Given the description of an element on the screen output the (x, y) to click on. 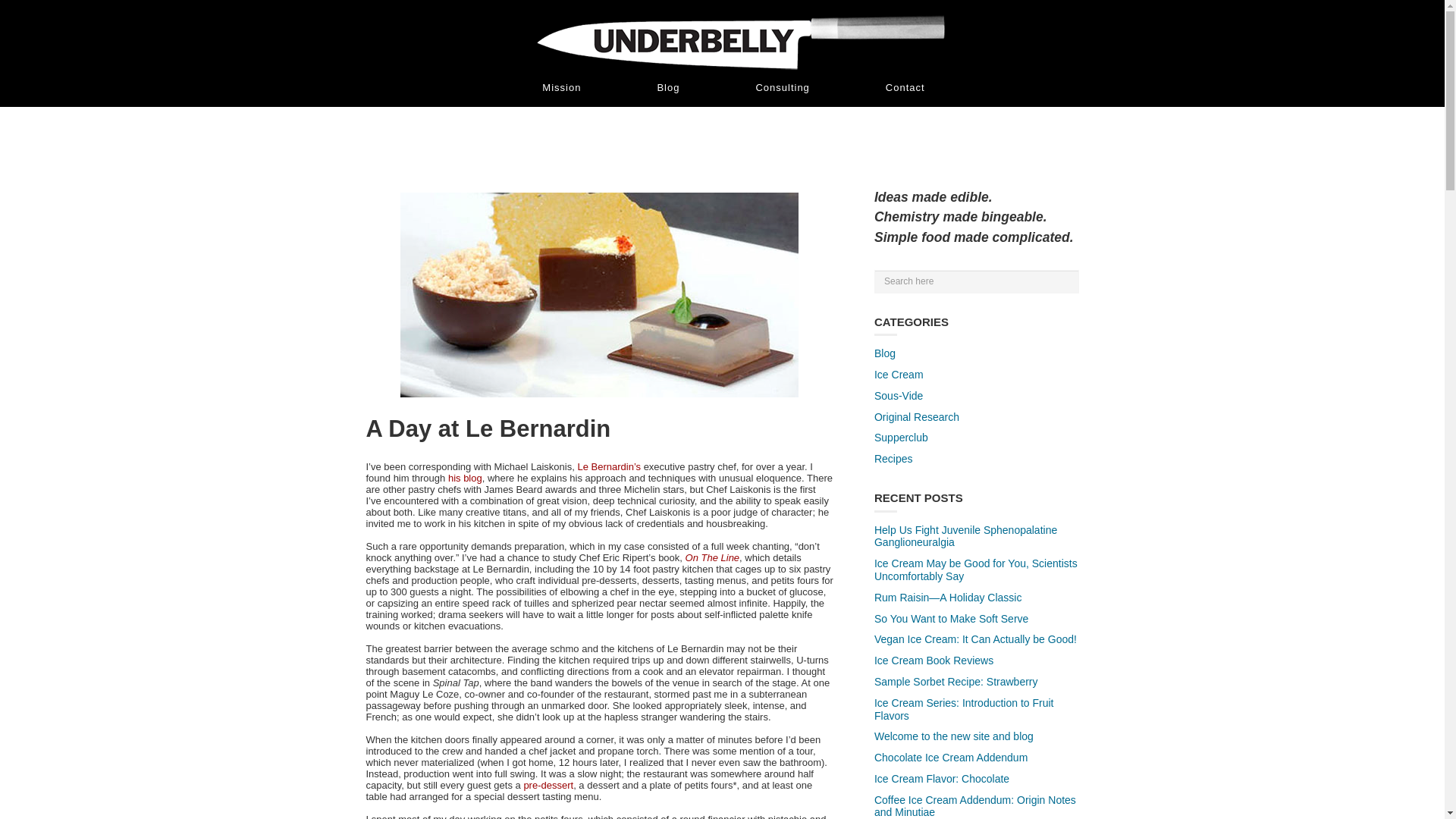
pre-dessert (547, 785)
Mission (560, 87)
blog (472, 478)
Blog (667, 87)
Contact (904, 87)
Consulting (782, 87)
On The Line (712, 557)
